Given the description of an element on the screen output the (x, y) to click on. 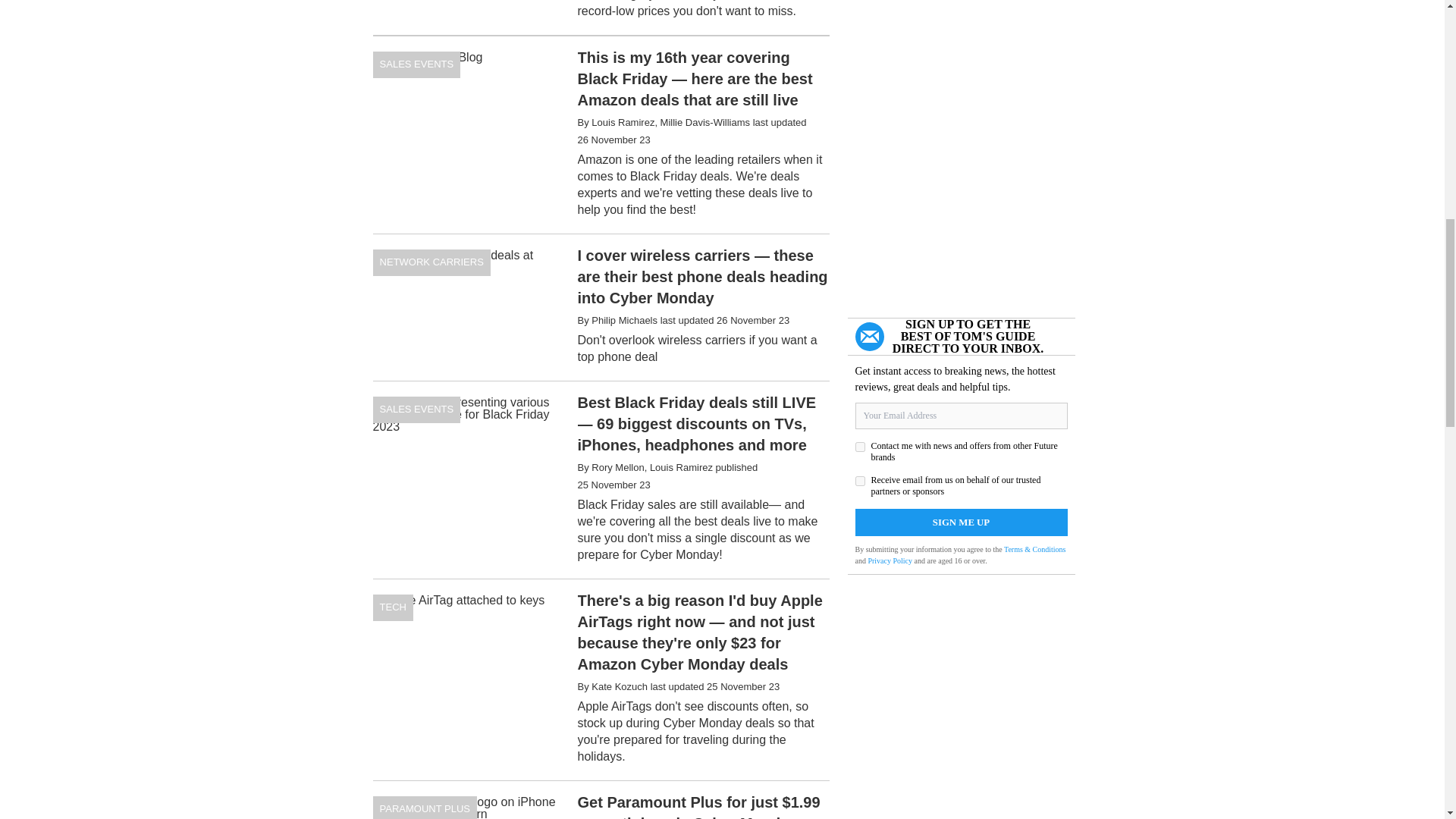
Sign me up (961, 522)
on (860, 480)
on (860, 447)
